Given the description of an element on the screen output the (x, y) to click on. 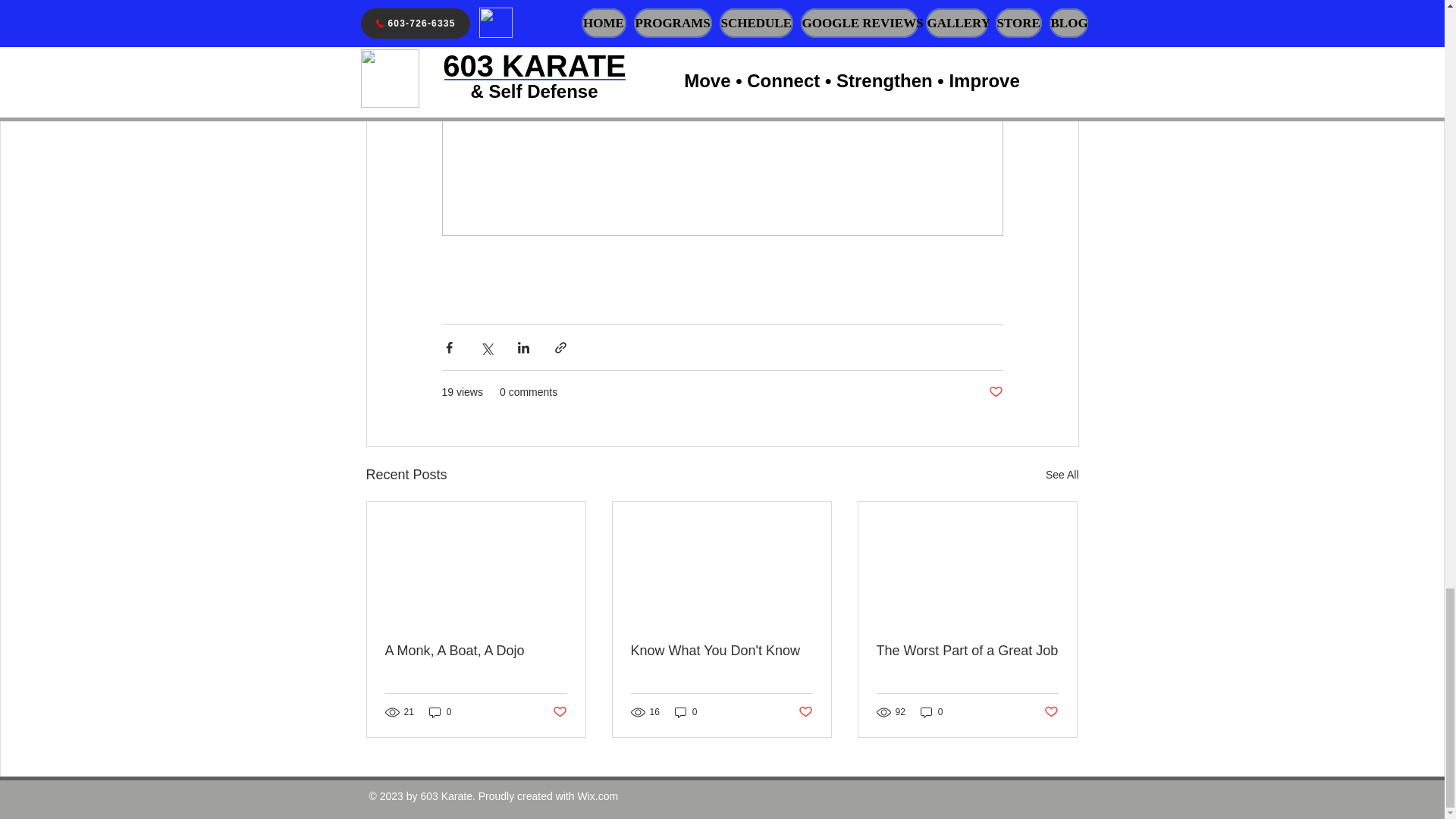
0 (440, 712)
A Monk, A Boat, A Dojo (476, 650)
Post not marked as liked (995, 392)
Post not marked as liked (804, 712)
0 (685, 712)
Post not marked as liked (558, 712)
See All (1061, 475)
Know What You Don't Know (721, 650)
